Given the description of an element on the screen output the (x, y) to click on. 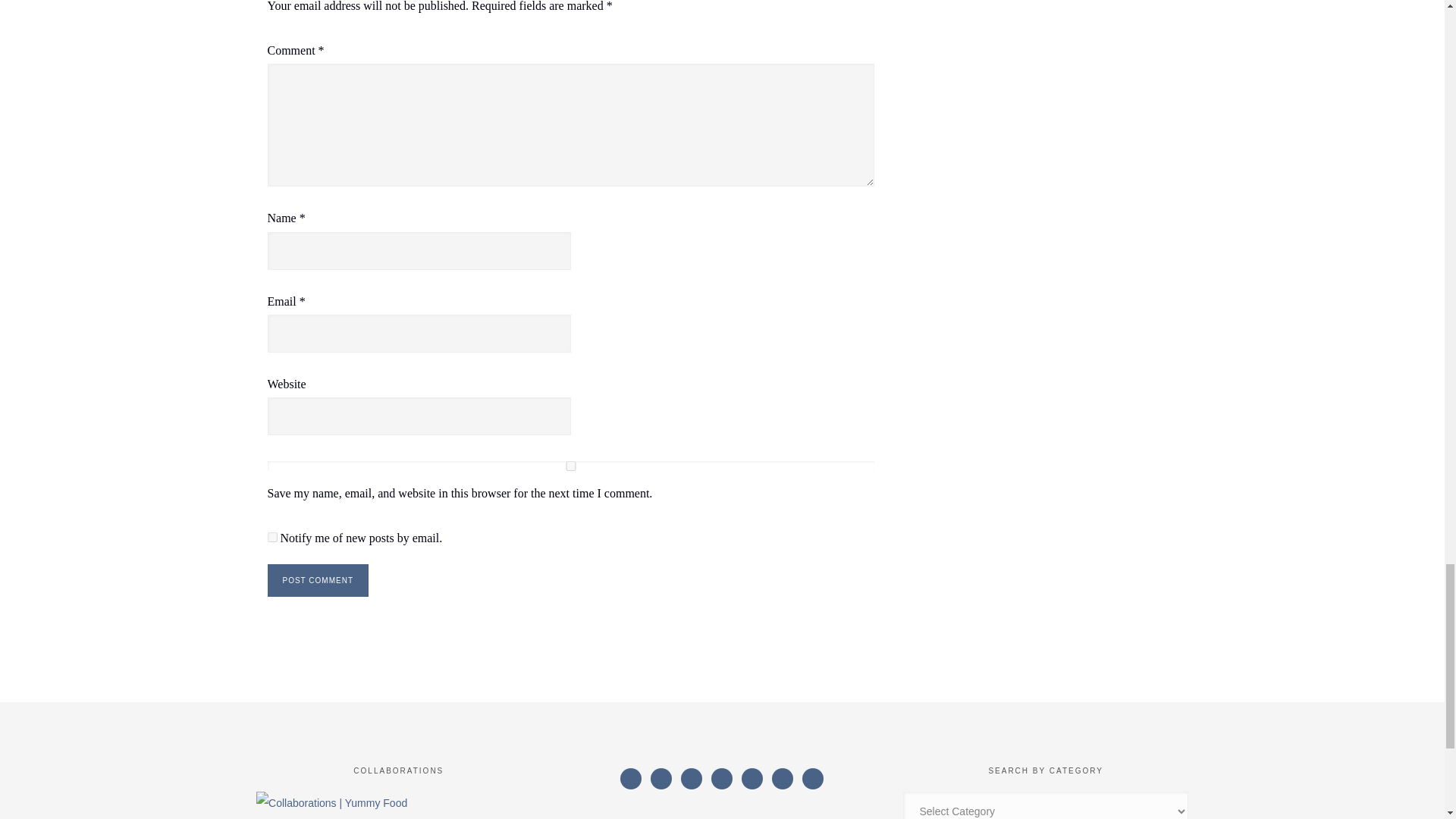
Post Comment (317, 580)
yes (569, 465)
subscribe (271, 537)
Post Comment (317, 580)
